Given the description of an element on the screen output the (x, y) to click on. 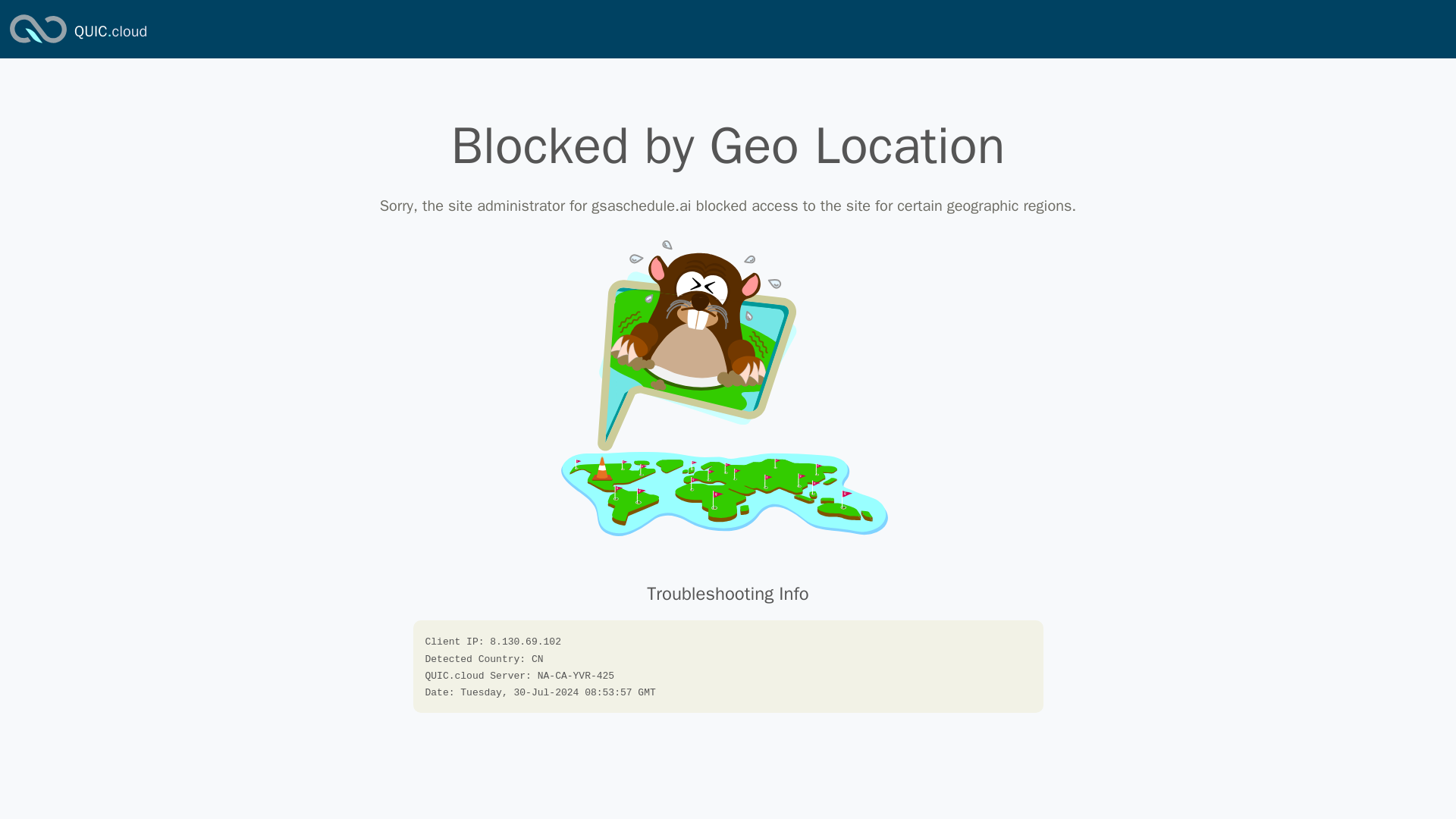
QUIC.cloud (110, 31)
QUIC.cloud (110, 31)
QUIC.cloud (37, 43)
